Given the description of an element on the screen output the (x, y) to click on. 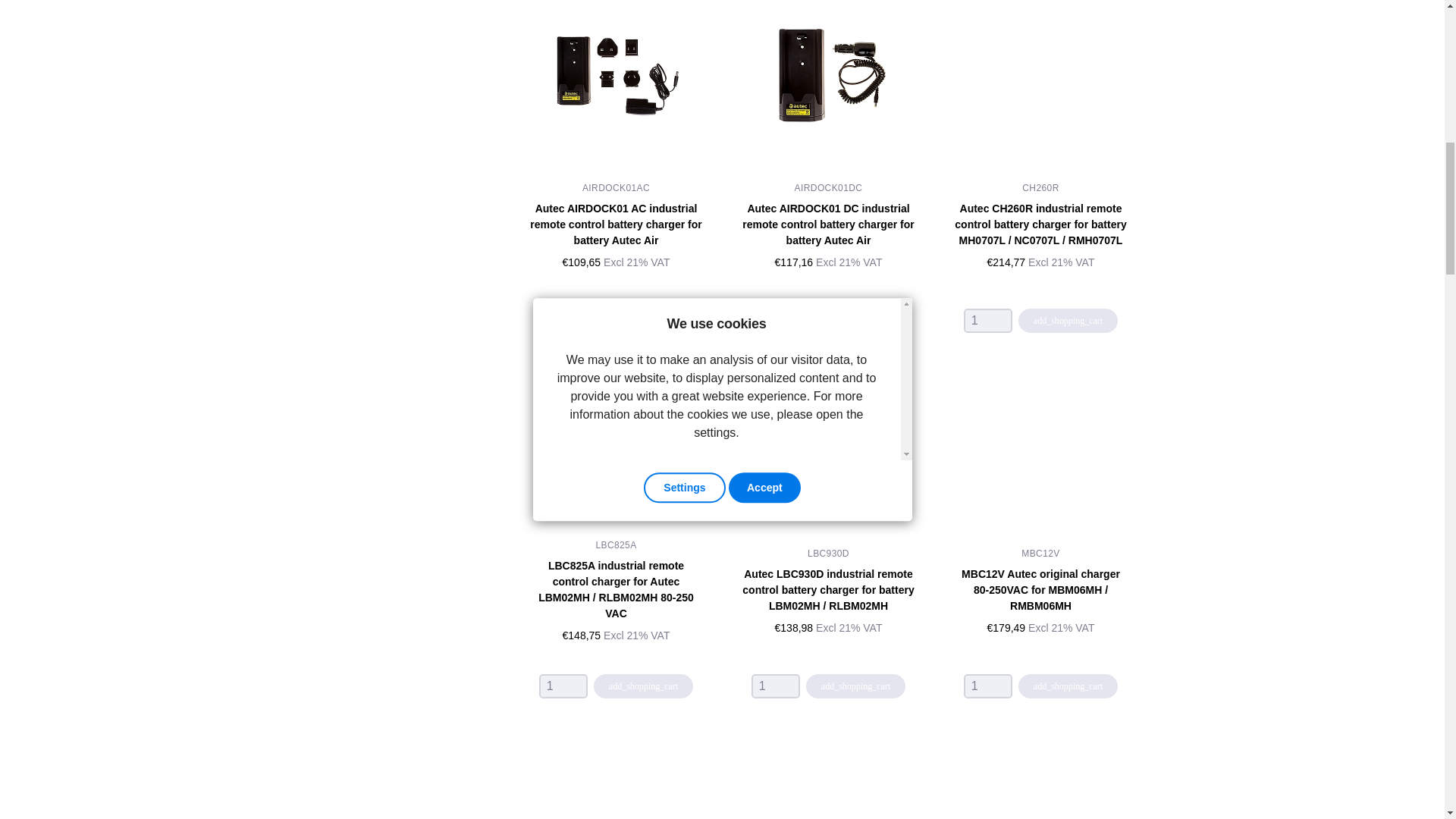
1 (775, 686)
View (615, 224)
View (828, 74)
1 (987, 686)
View (827, 224)
1 (775, 320)
Add to cart (643, 320)
1 (987, 320)
1 (563, 320)
View (615, 74)
1 (563, 686)
